Given the description of an element on the screen output the (x, y) to click on. 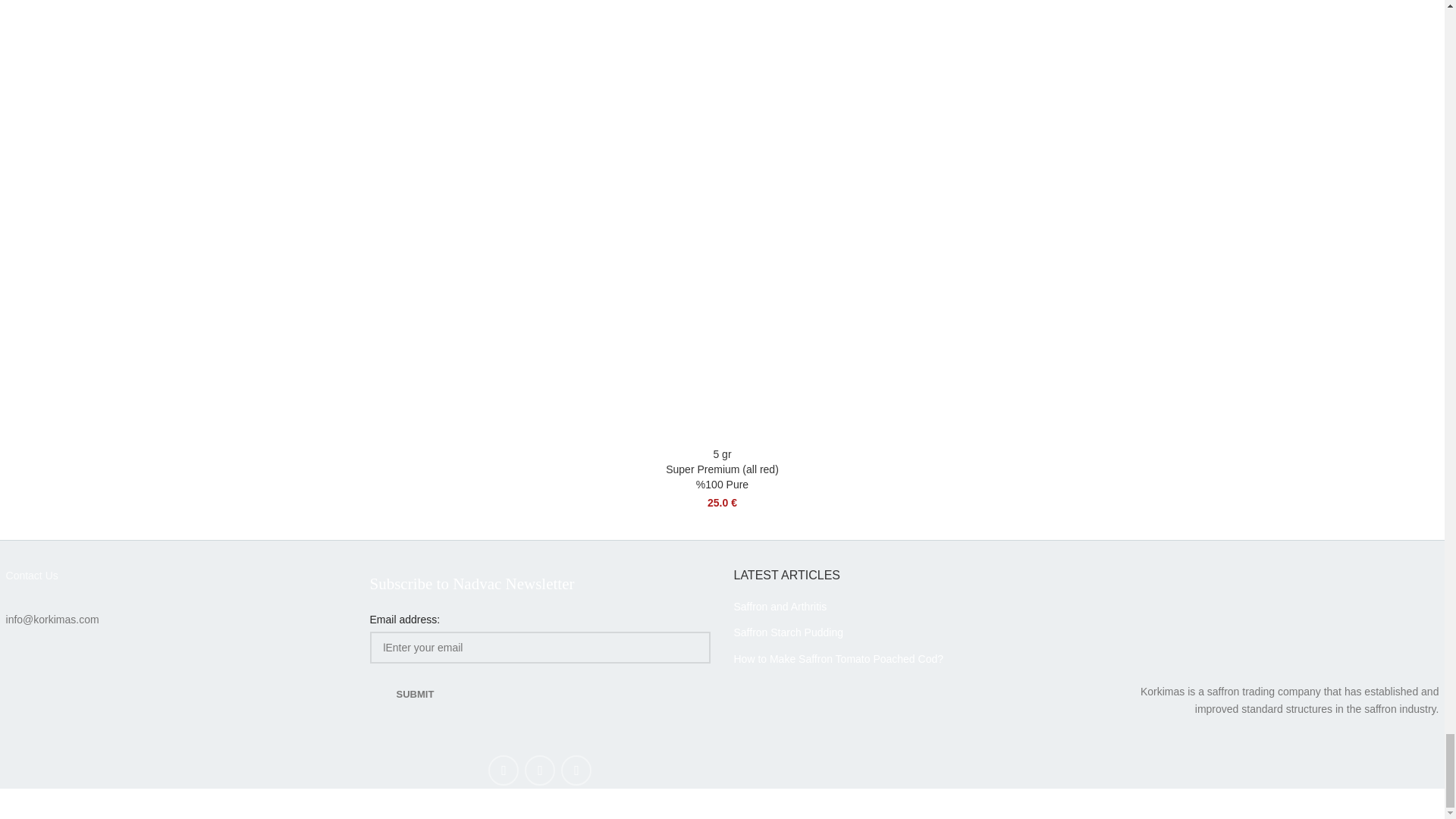
submit (415, 694)
